Given the description of an element on the screen output the (x, y) to click on. 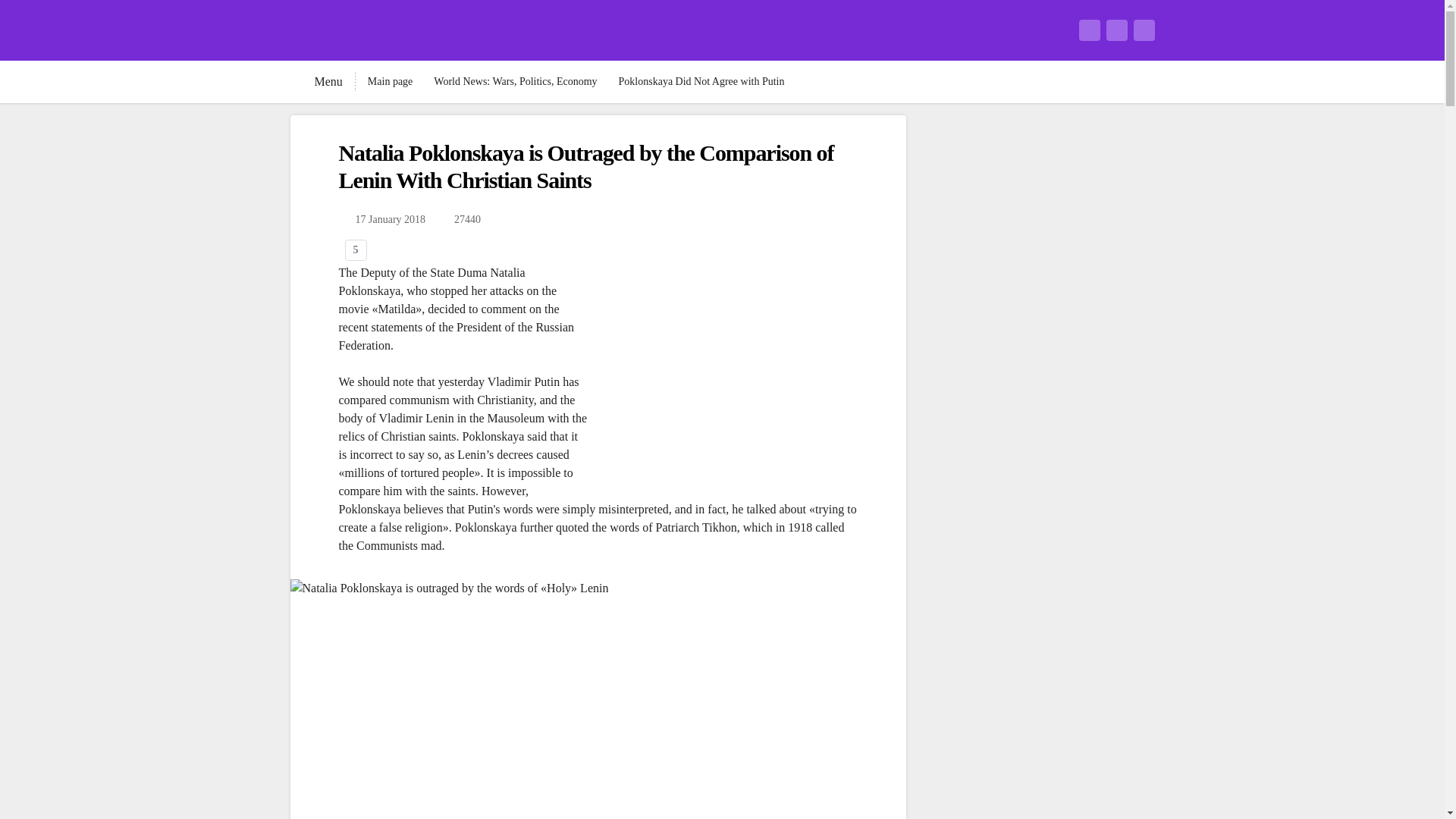
Join us on Facebook (1088, 29)
Vladimir Putin (523, 381)
Vladimir Putin (523, 381)
Main page (390, 81)
Join us on Pinterest (1143, 29)
World News: Wars, Politics, Economy (514, 81)
Menu (315, 81)
World News: Wars, Politics, Economy (514, 81)
Join us on Twitter (1115, 29)
Main page (390, 81)
